Given the description of an element on the screen output the (x, y) to click on. 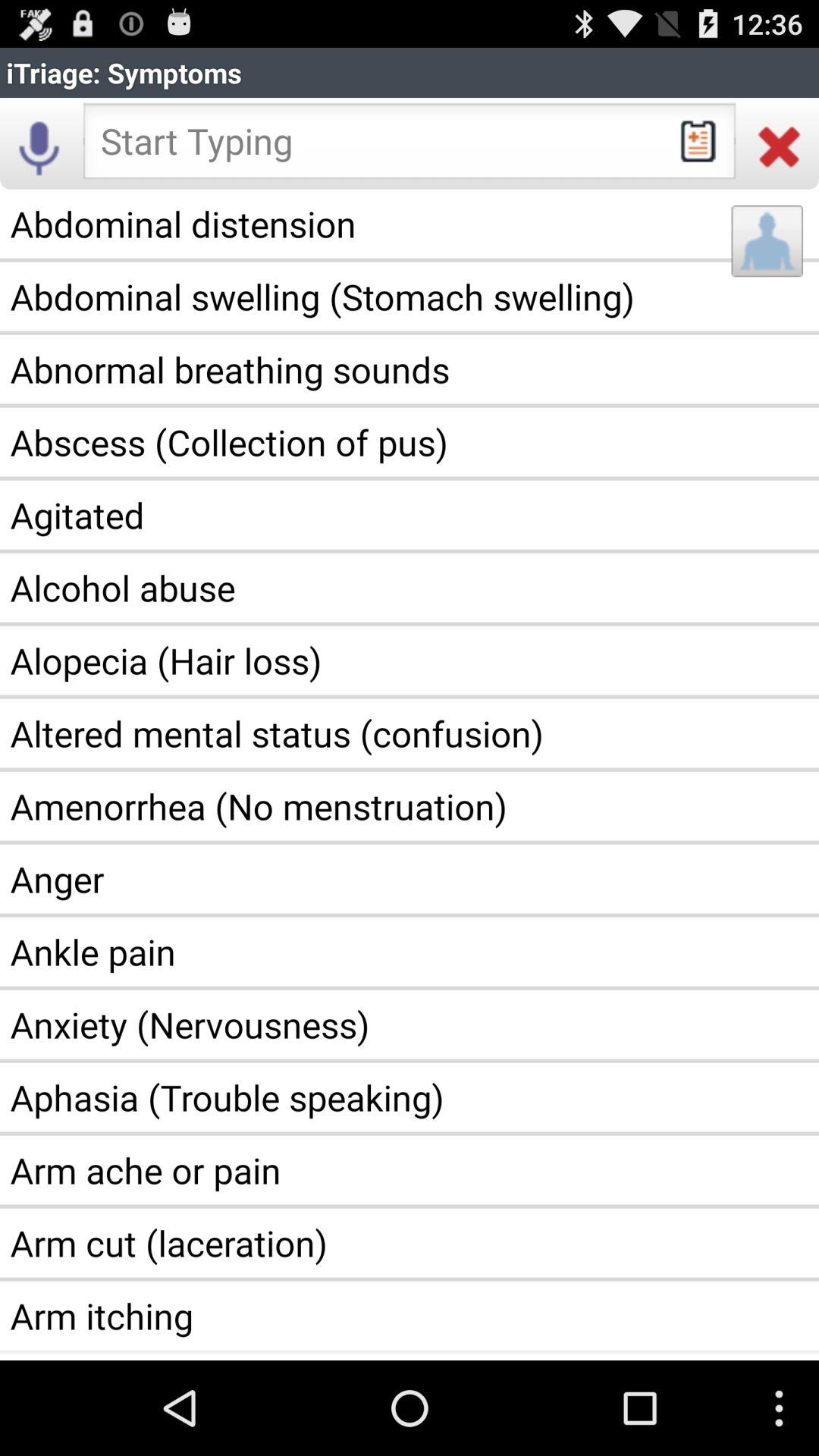
press the item below the alcohol abuse item (409, 660)
